Given the description of an element on the screen output the (x, y) to click on. 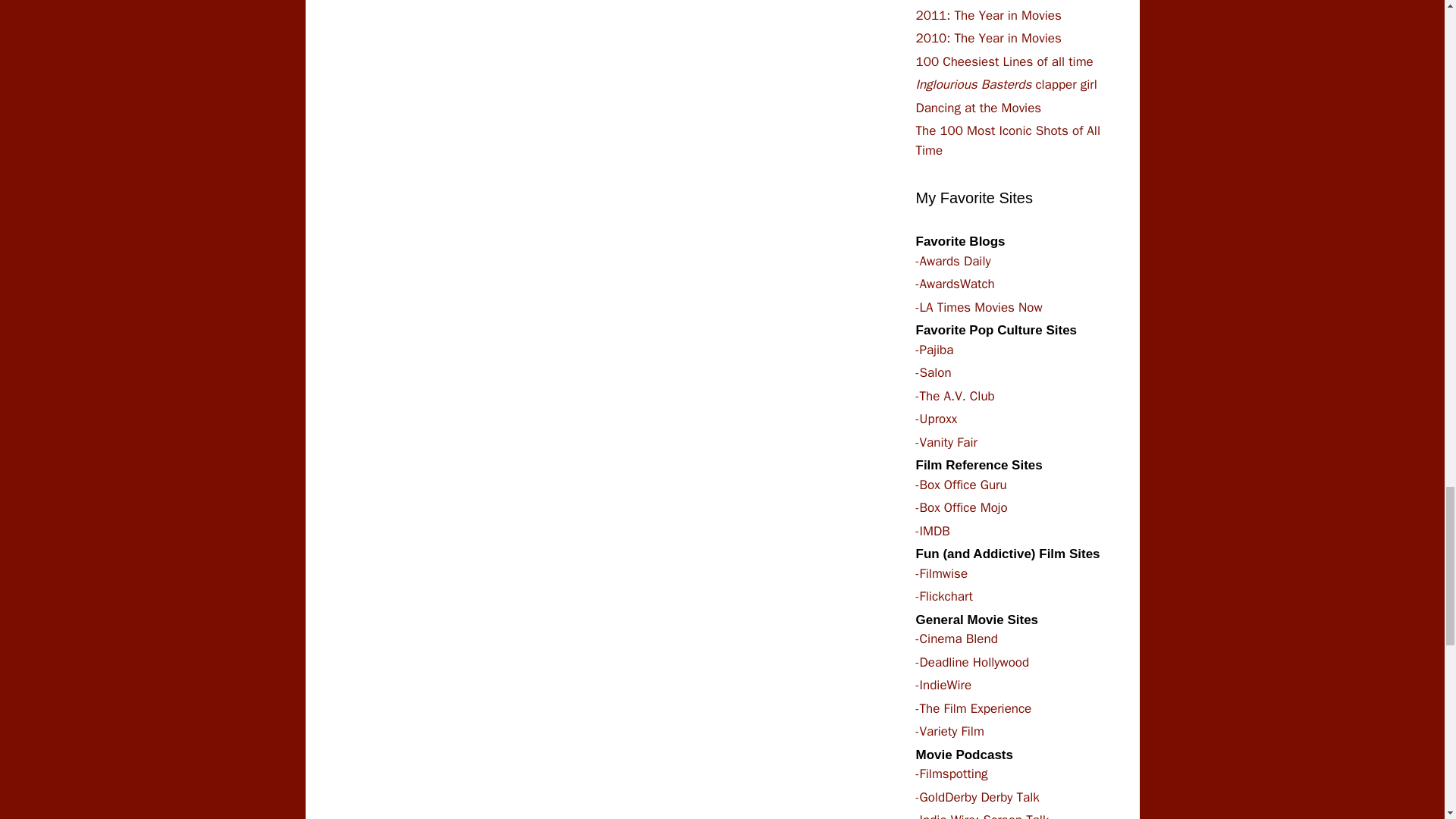
Los Angeles Times Movie Blog (978, 306)
A great site with a little bit of everything (961, 507)
An intelligent site with a little of everything (933, 372)
General pop culture blog (954, 396)
THE movie reference source (932, 530)
Oscar Buzz blog (953, 261)
Pop Culture just the way I like it (934, 349)
A constant Oscar race fix (954, 283)
